Given the description of an element on the screen output the (x, y) to click on. 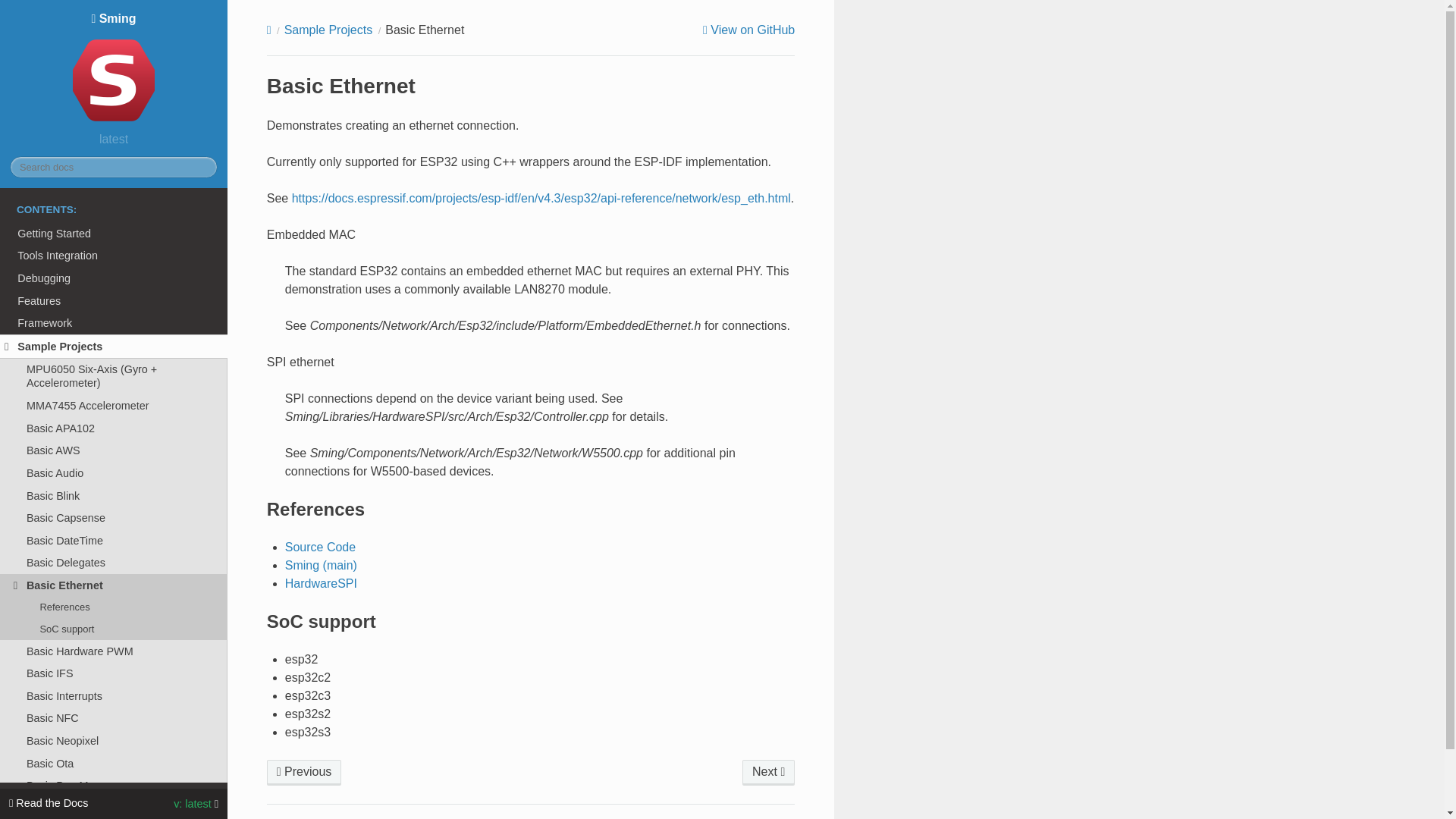
Basic Audio (113, 472)
Getting Started (113, 232)
Basic Capsense (113, 517)
Basic DateTime (113, 540)
MMA7455 Accelerometer (113, 404)
Basic Hardware PWM (113, 650)
Basic Ota (113, 763)
Basic Neopixel (113, 740)
Basic APA102 (113, 427)
Basic Ethernet (113, 585)
SoC support (113, 628)
Basic Blink (113, 495)
Basic IFS (113, 672)
Sample Projects (113, 346)
References (113, 607)
